Given the description of an element on the screen output the (x, y) to click on. 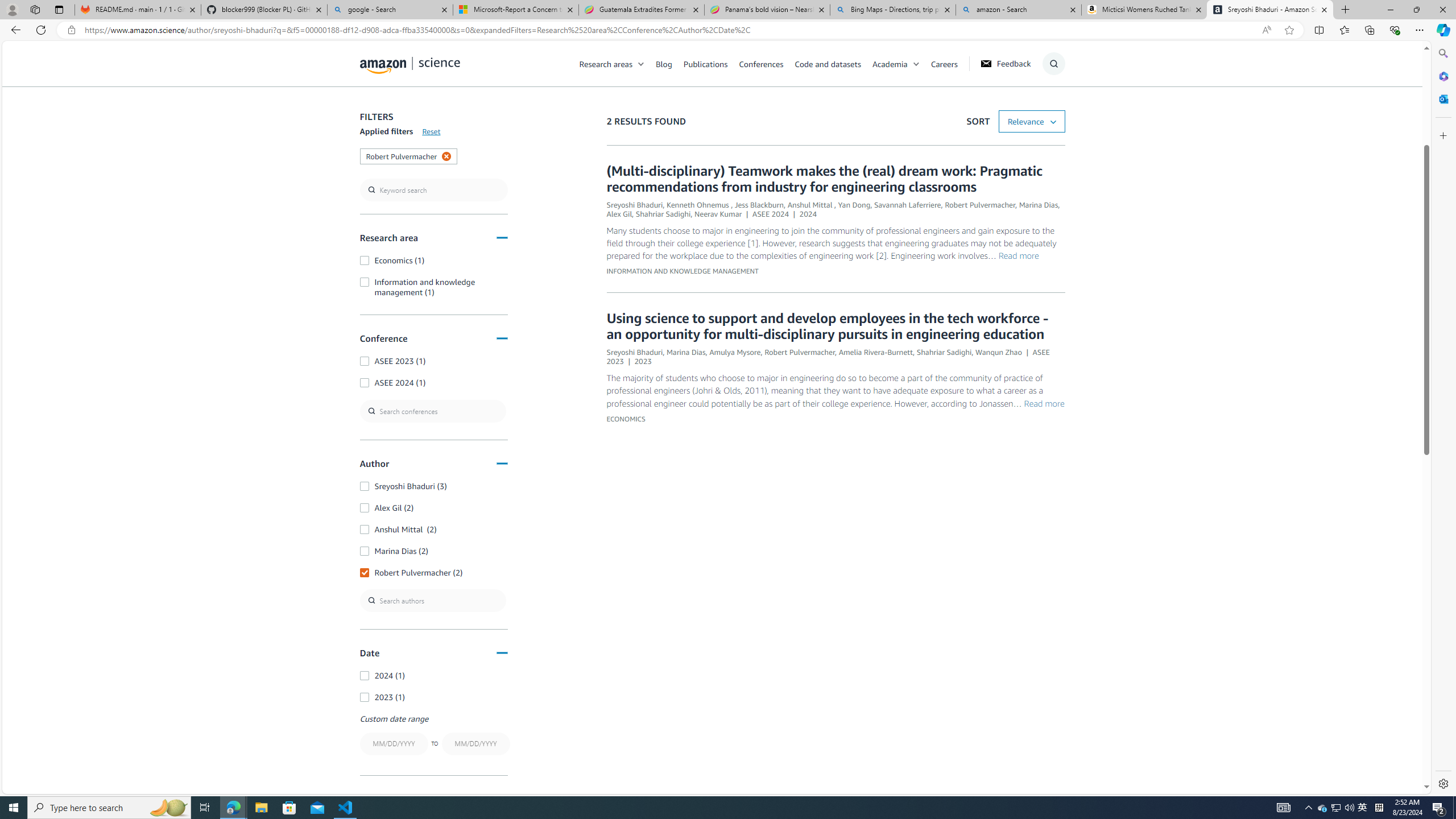
Shahriar Sadighi (943, 352)
Blog (669, 63)
Class: chevron (916, 66)
Search conferences (432, 410)
Marina Dias (685, 352)
